Given the description of an element on the screen output the (x, y) to click on. 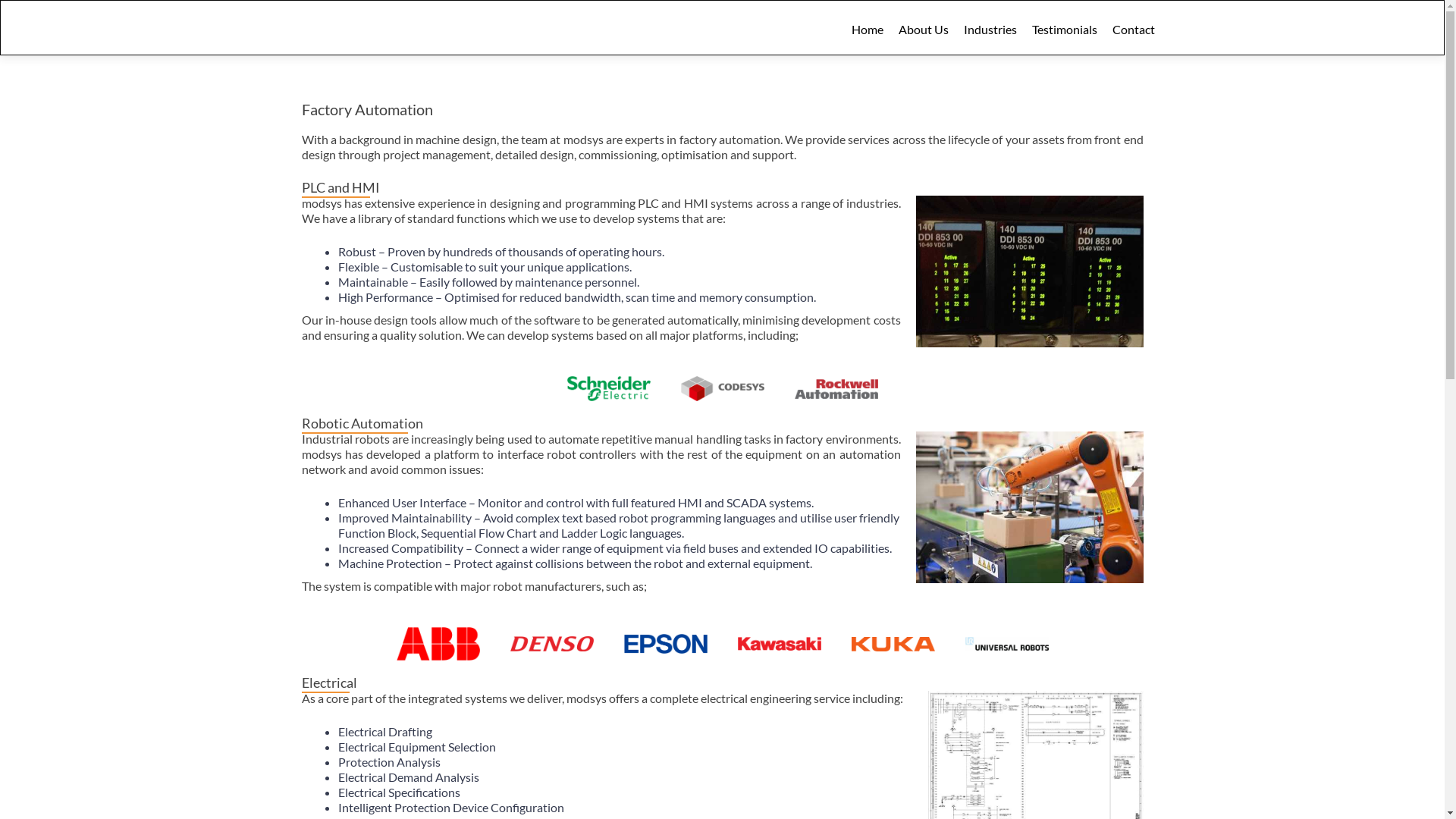
About Us Element type: text (922, 28)
Industries Element type: text (989, 28)
Contact Element type: text (1132, 28)
Testimonials Element type: text (1063, 28)
Home Element type: text (866, 28)
